Given the description of an element on the screen output the (x, y) to click on. 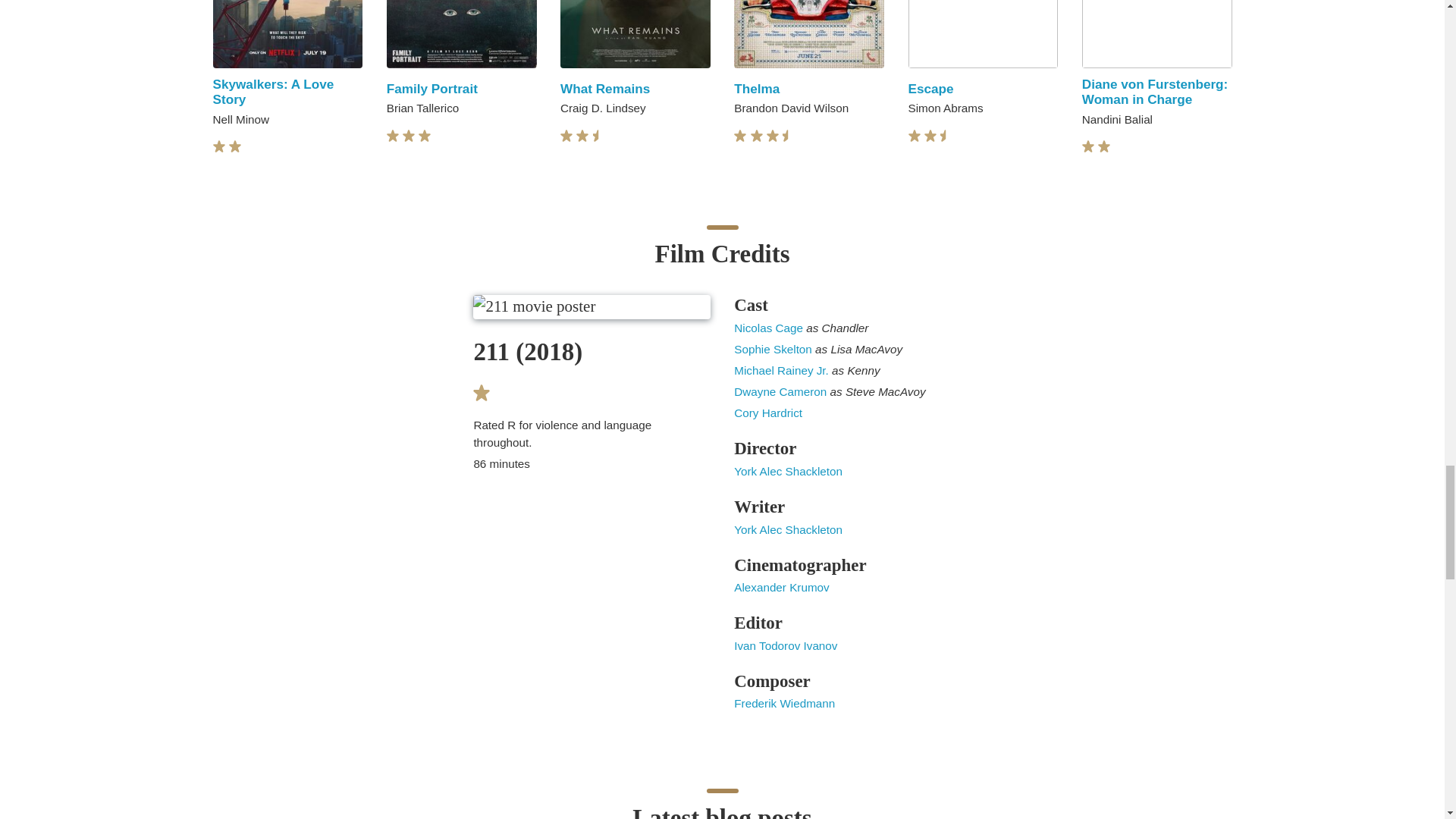
Sophie Skelton (774, 349)
Michael Rainey Jr. (782, 369)
Nicolas Cage (769, 327)
star-full (424, 135)
Thelma (755, 88)
star-full (392, 135)
star-full (408, 135)
star-full (218, 146)
Diane von Furstenberg: Woman in Charge (1154, 91)
What Remains (604, 88)
Escape (930, 88)
Family Portrait (432, 88)
star-full (566, 135)
star-half (598, 135)
star-full (234, 146)
